Given the description of an element on the screen output the (x, y) to click on. 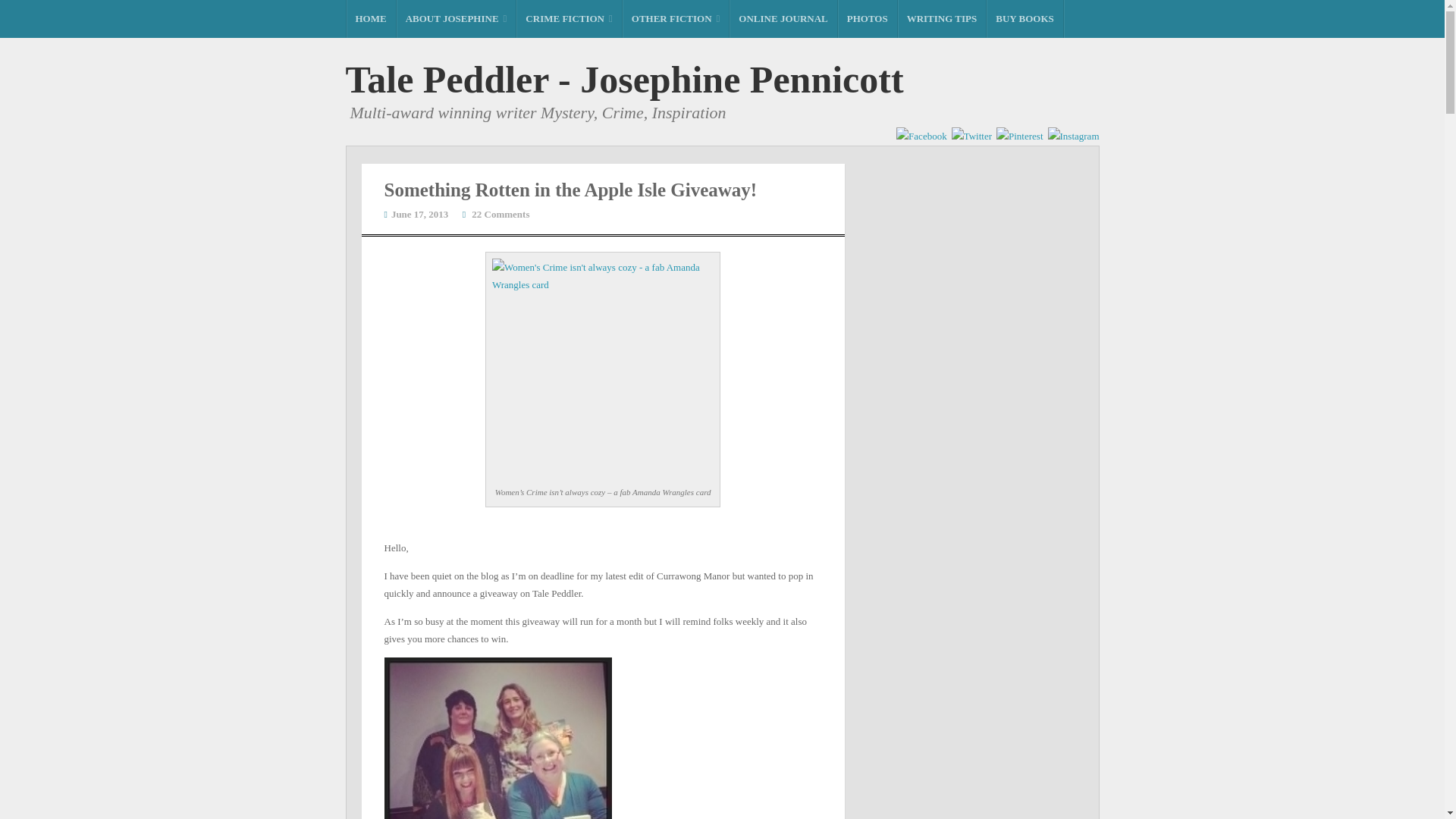
OTHER FICTION (676, 18)
ABOUT JOSEPHINE (456, 18)
HOME (370, 18)
CRIME FICTION (568, 18)
